Given the description of an element on the screen output the (x, y) to click on. 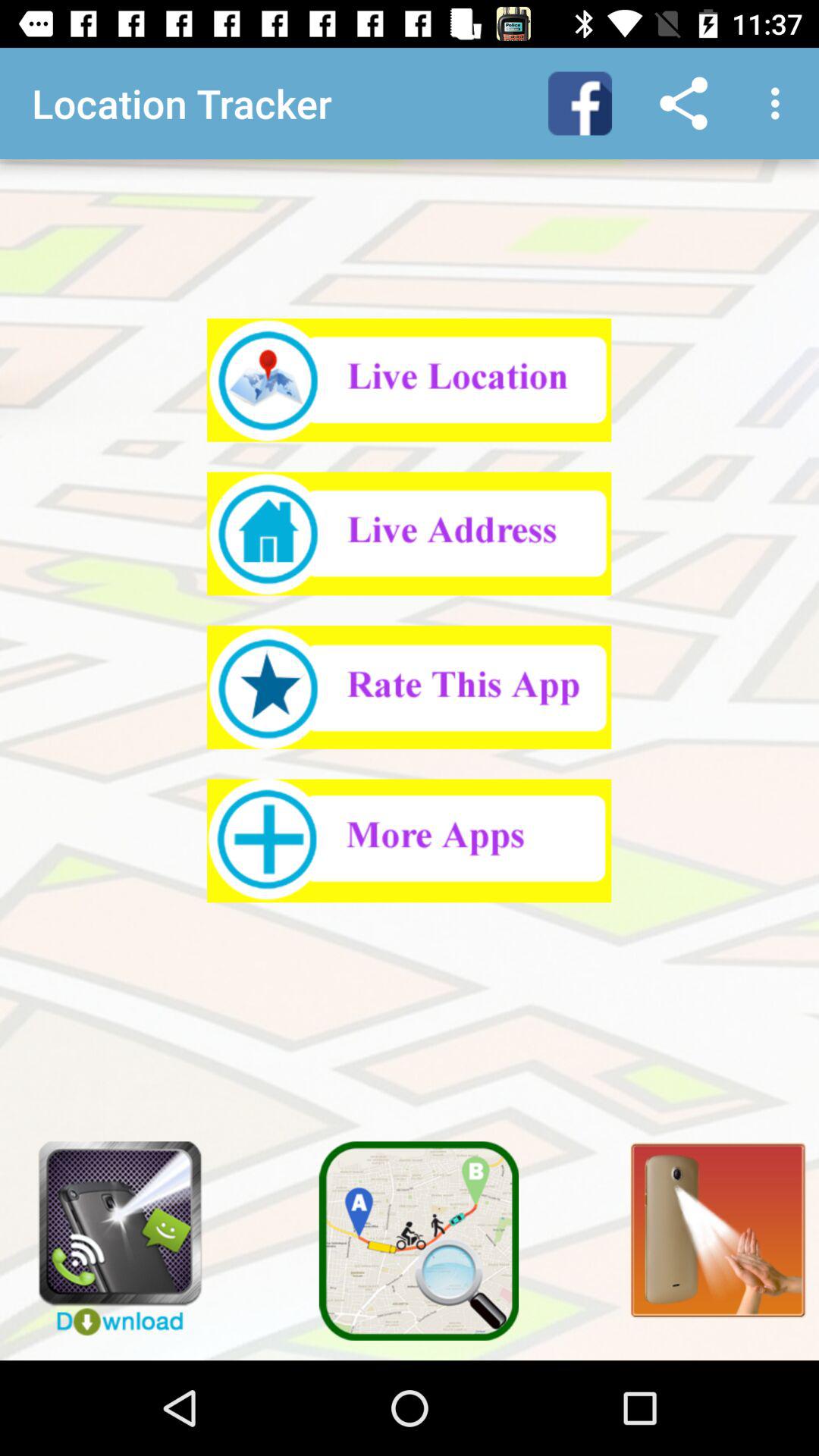
open advertisement for phone flashlight (109, 1230)
